Given the description of an element on the screen output the (x, y) to click on. 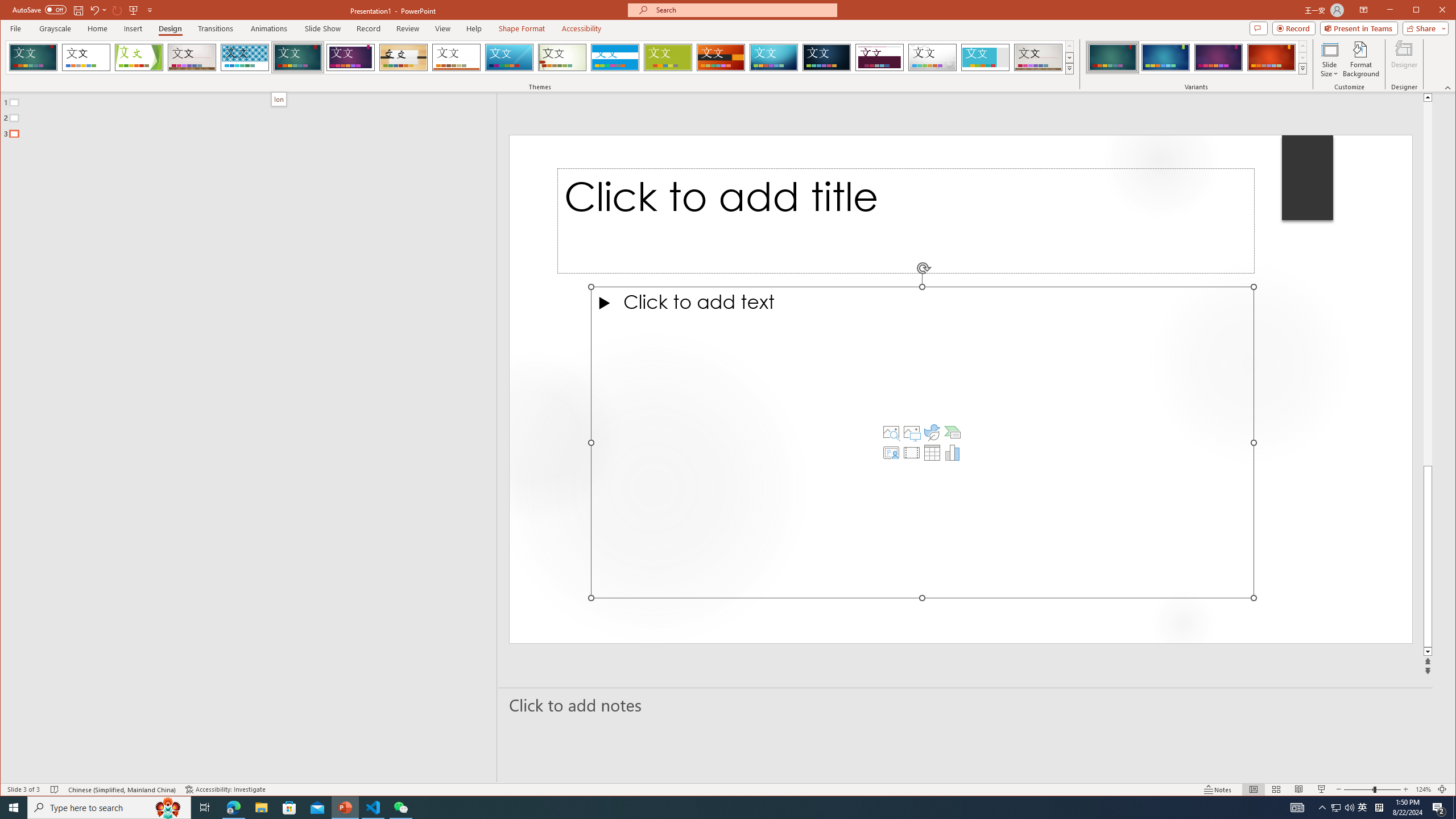
Stock Images (890, 432)
Ion Variant 2 (1165, 57)
Dividend (879, 57)
